Given the description of an element on the screen output the (x, y) to click on. 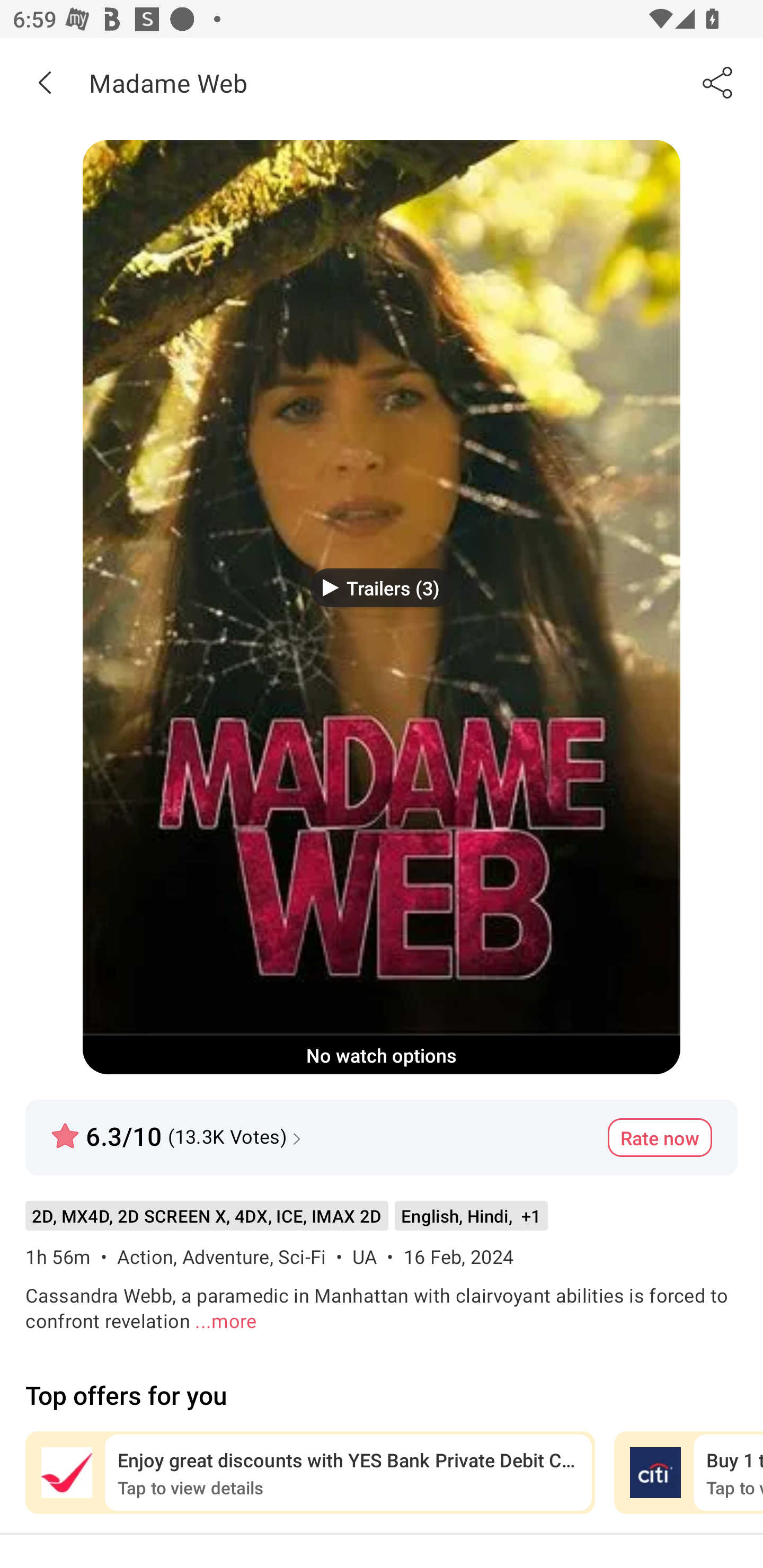
Back (44, 82)
Share (718, 82)
Movie Banner Trailers (3) No watch options (381, 606)
Trailers (3) (381, 586)
6.3/10 (13.3K Votes) (178, 1128)
Rate now (659, 1137)
